Given the description of an element on the screen output the (x, y) to click on. 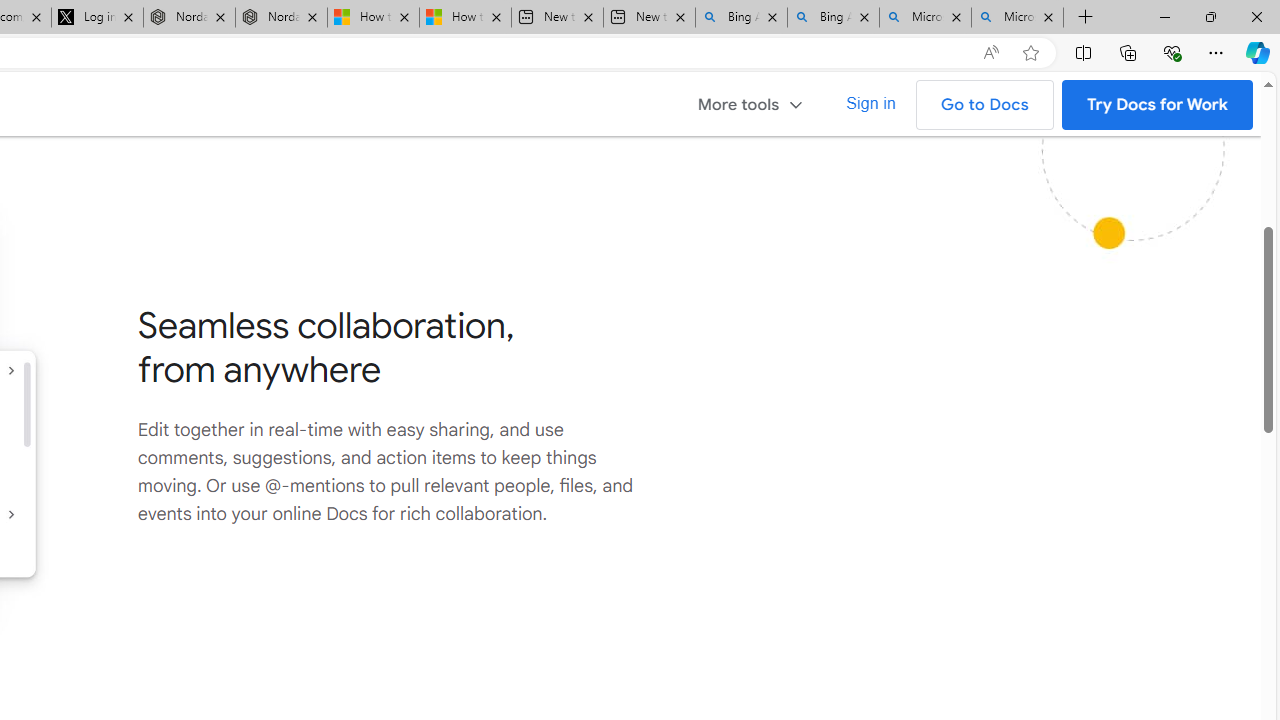
Microsoft Bing Timeline - Search (1017, 17)
Bing AI - Search (833, 17)
Read aloud this page (Ctrl+Shift+U) (991, 53)
Log in to X / X (97, 17)
